Given the description of an element on the screen output the (x, y) to click on. 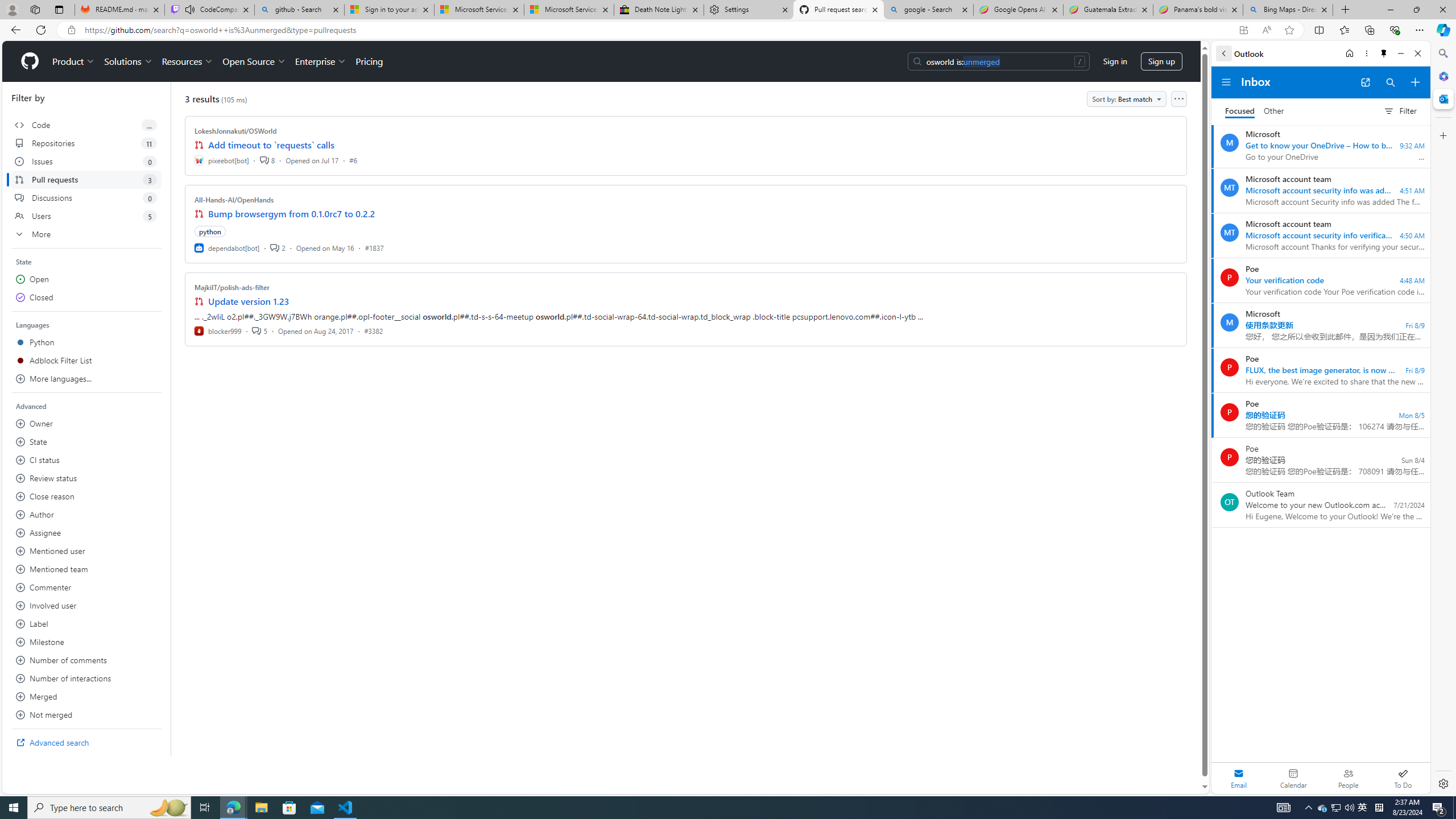
#1837 (374, 247)
github - Search (298, 9)
Focused Inbox, toggle to go to Other Inbox (1254, 110)
Calendar. Date today is 22 (1293, 777)
Mute tab (189, 8)
Open Source (254, 60)
LokeshJonnakuti/OSWorld (235, 130)
